Given the description of an element on the screen output the (x, y) to click on. 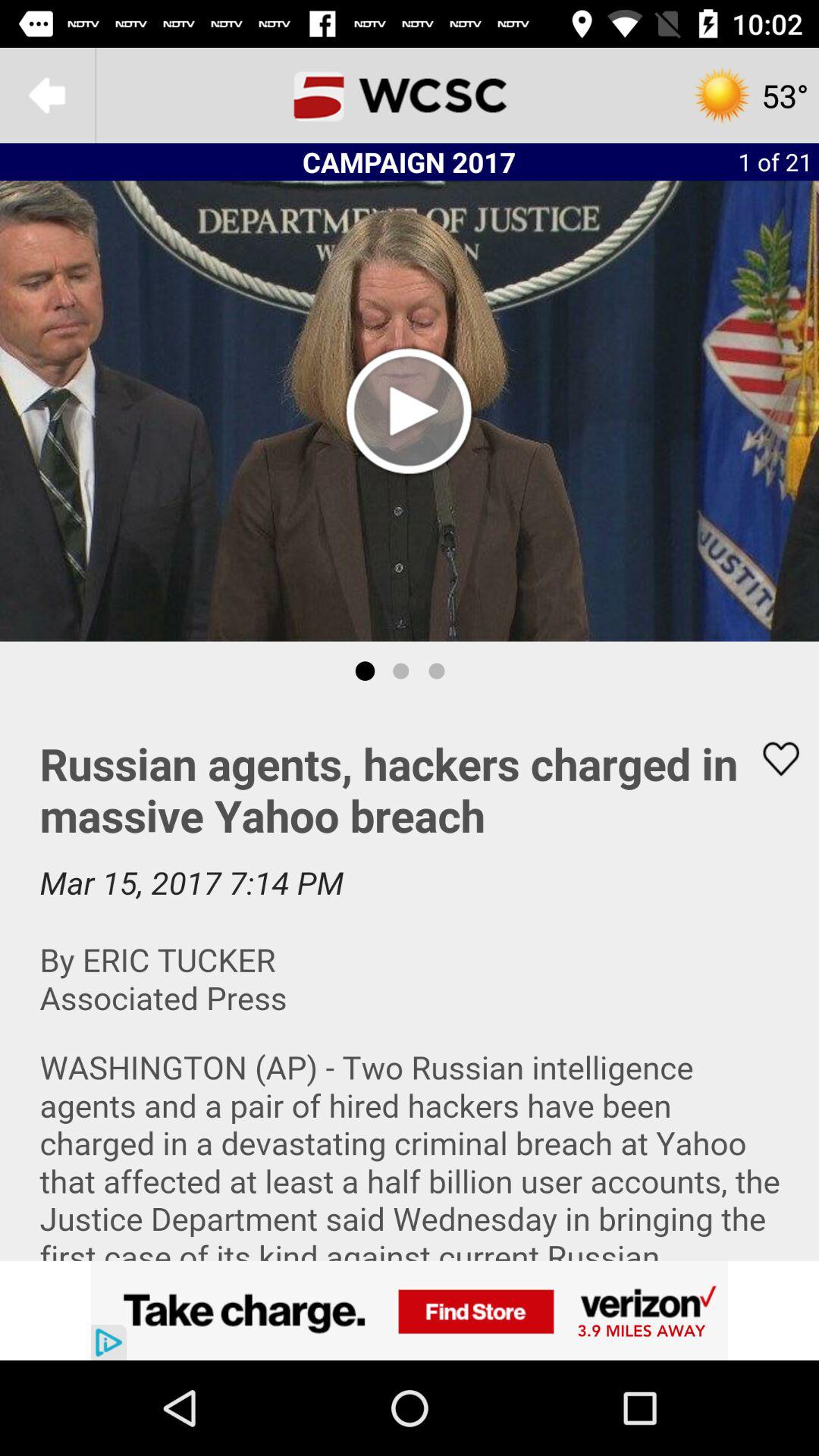
go to external advertisement (409, 1310)
